Given the description of an element on the screen output the (x, y) to click on. 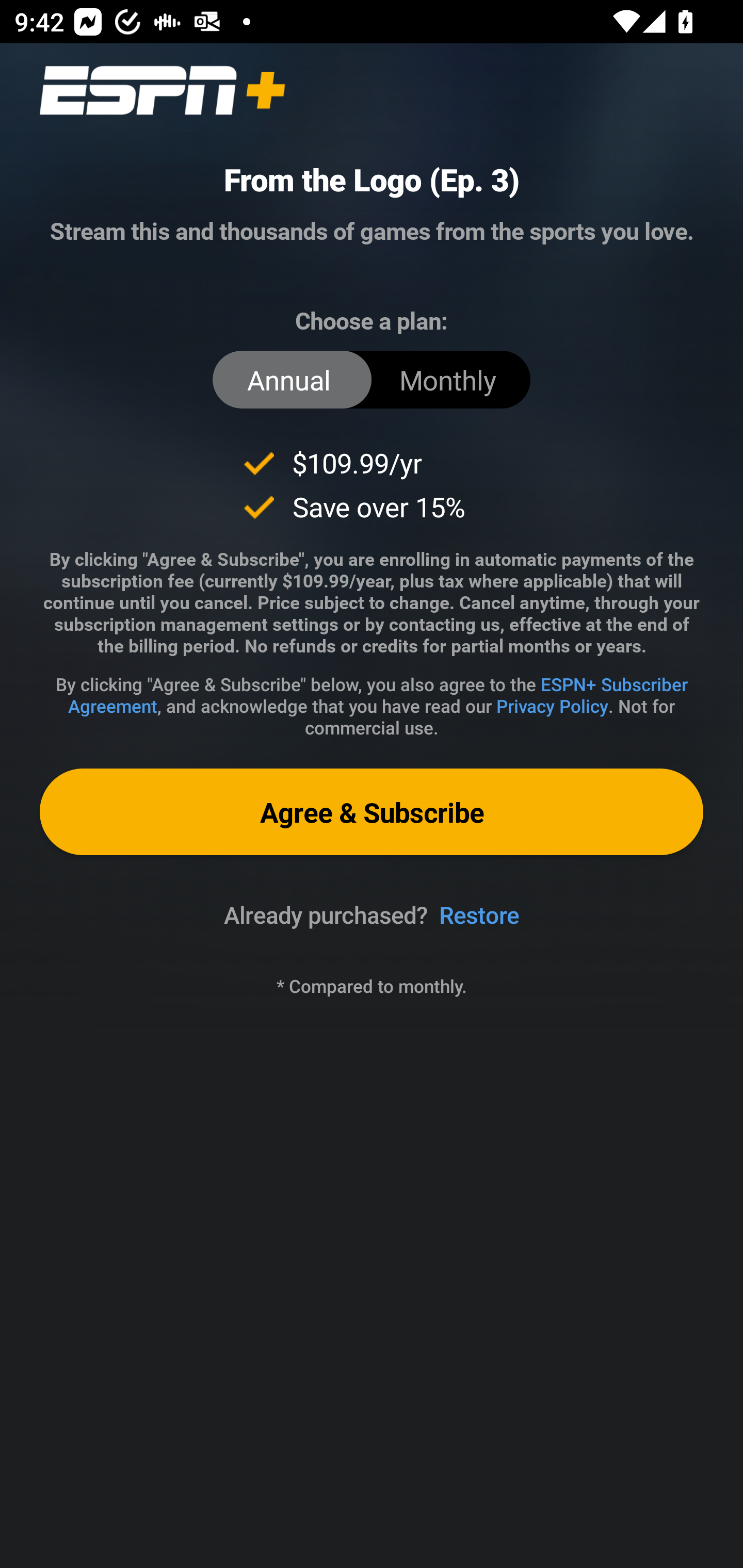
Agree & Subscribe (371, 811)
